Given the description of an element on the screen output the (x, y) to click on. 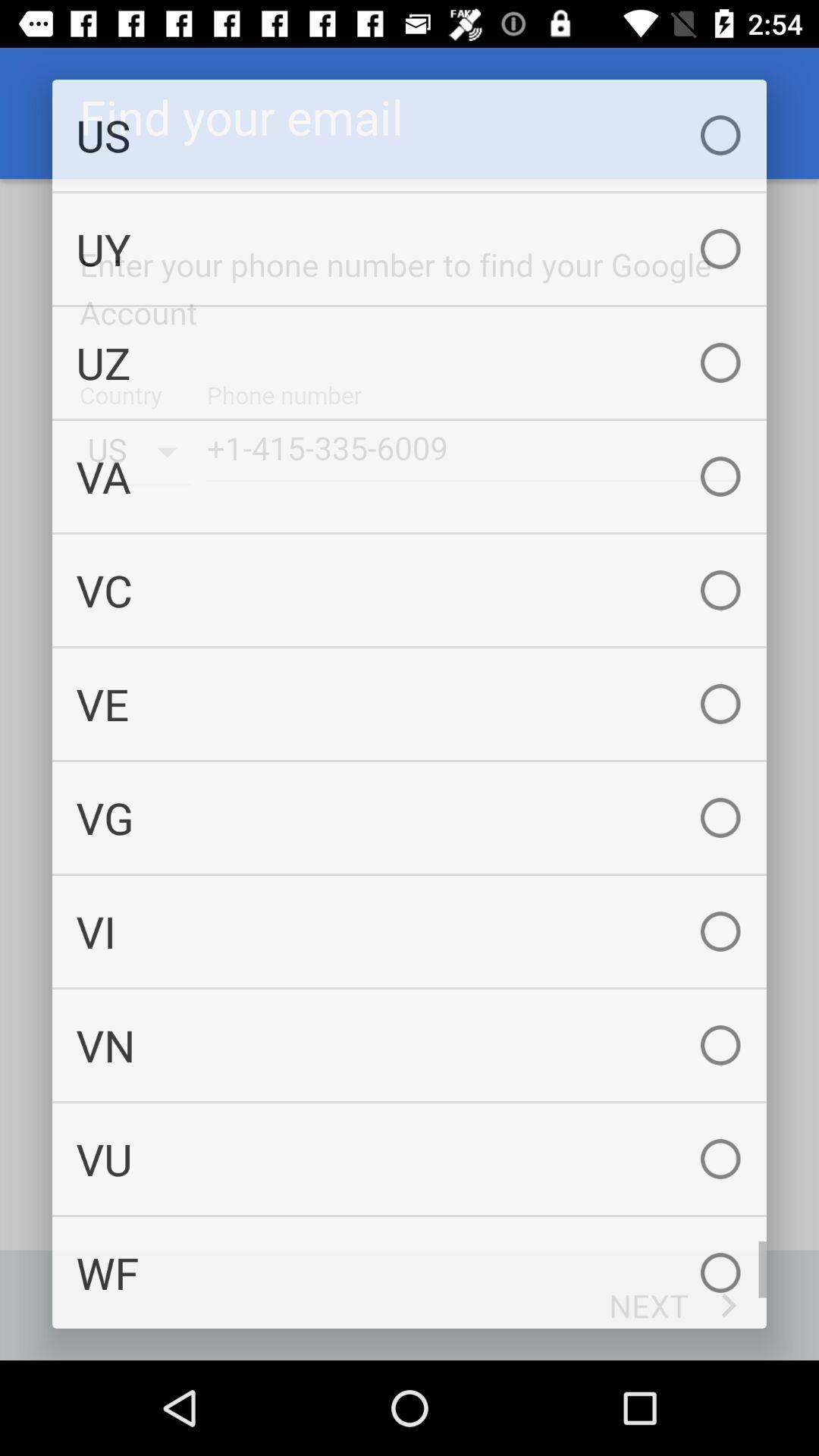
press item above the uz icon (409, 248)
